Given the description of an element on the screen output the (x, y) to click on. 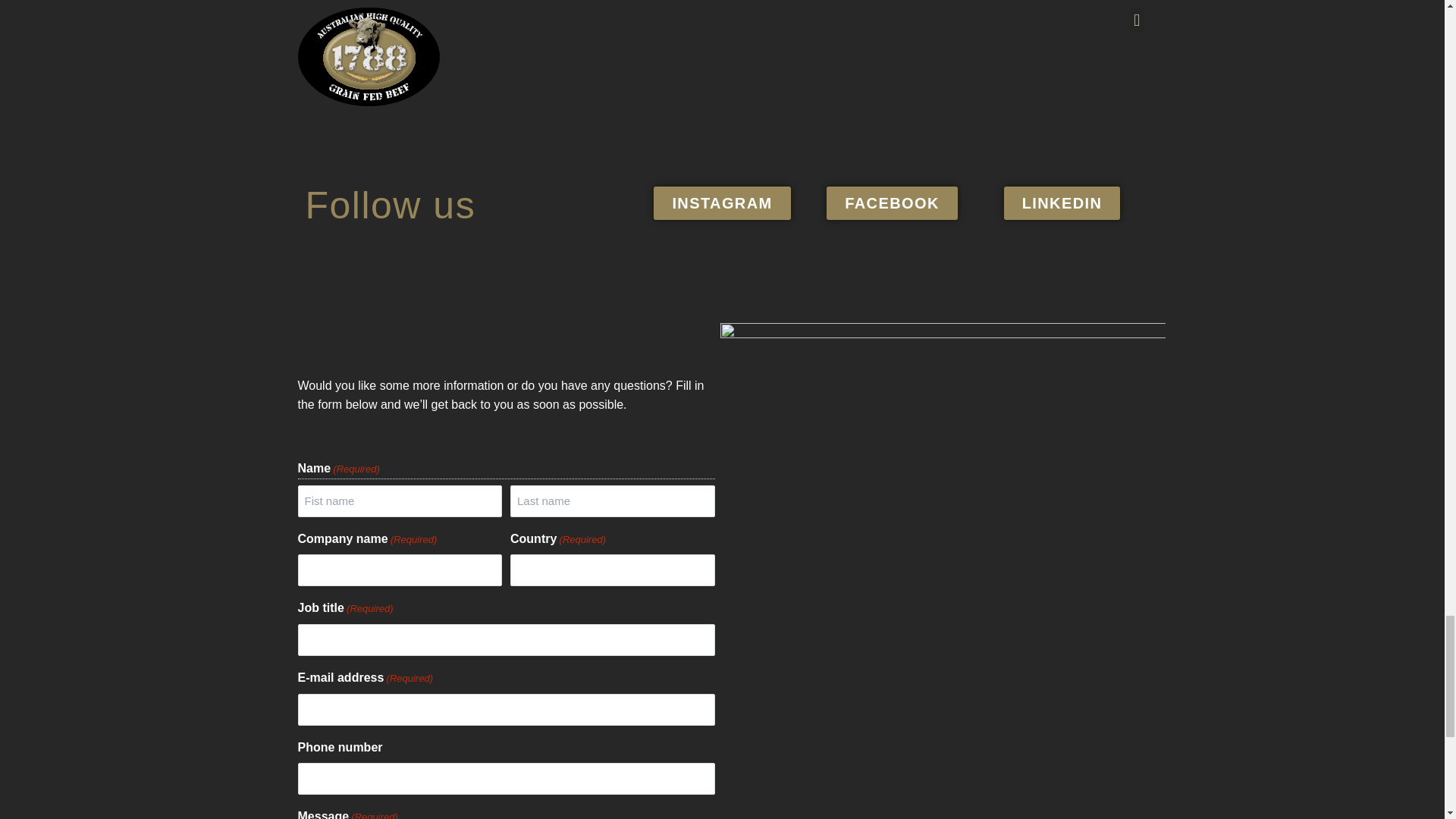
INSTAGRAM (721, 203)
LINKEDIN (1062, 203)
FACEBOOK (892, 203)
